Given the description of an element on the screen output the (x, y) to click on. 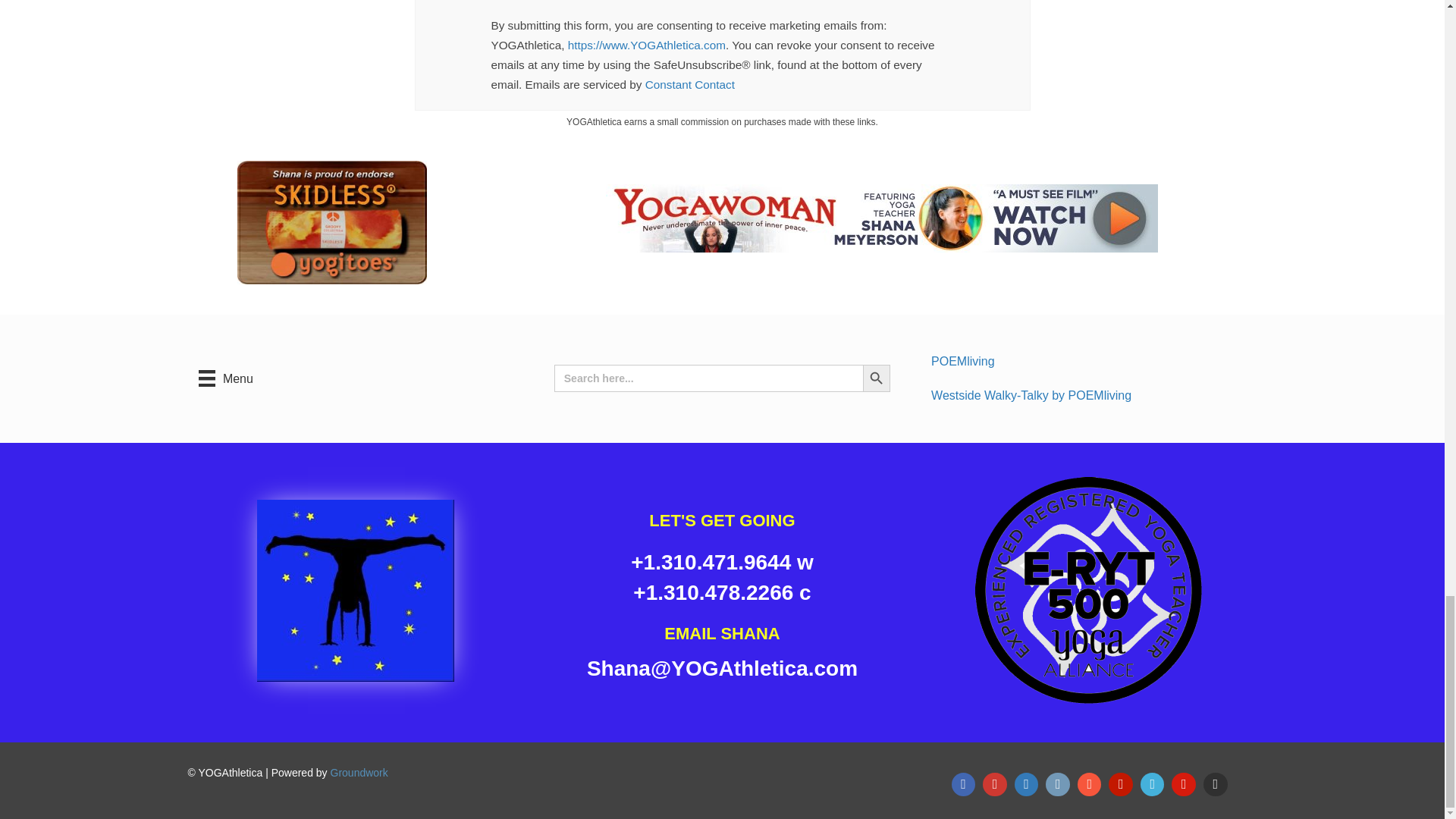
yogitoes-1advert (331, 222)
